Given the description of an element on the screen output the (x, y) to click on. 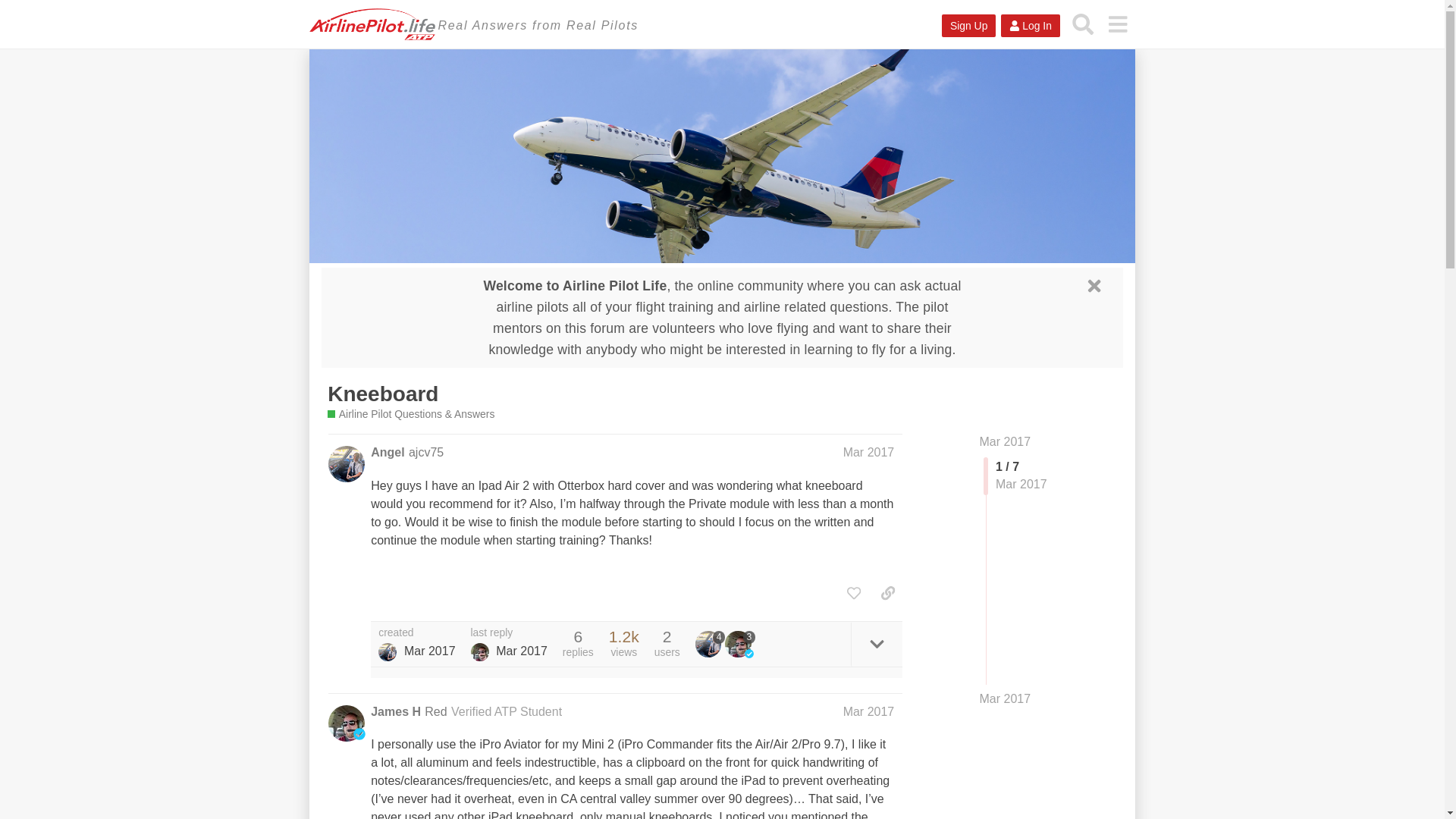
Angel (387, 651)
3 (740, 643)
4 (710, 643)
Jump to the first post (1004, 440)
Kneeboard (382, 393)
Sign Up (968, 25)
Search (1082, 23)
Mar 2017 (869, 451)
Verified ATP Student (506, 711)
like this post (853, 592)
Log In (1030, 25)
Mar 6, 2017 4:48 am (429, 650)
Mar 2017 (869, 711)
Red (435, 711)
